Given the description of an element on the screen output the (x, y) to click on. 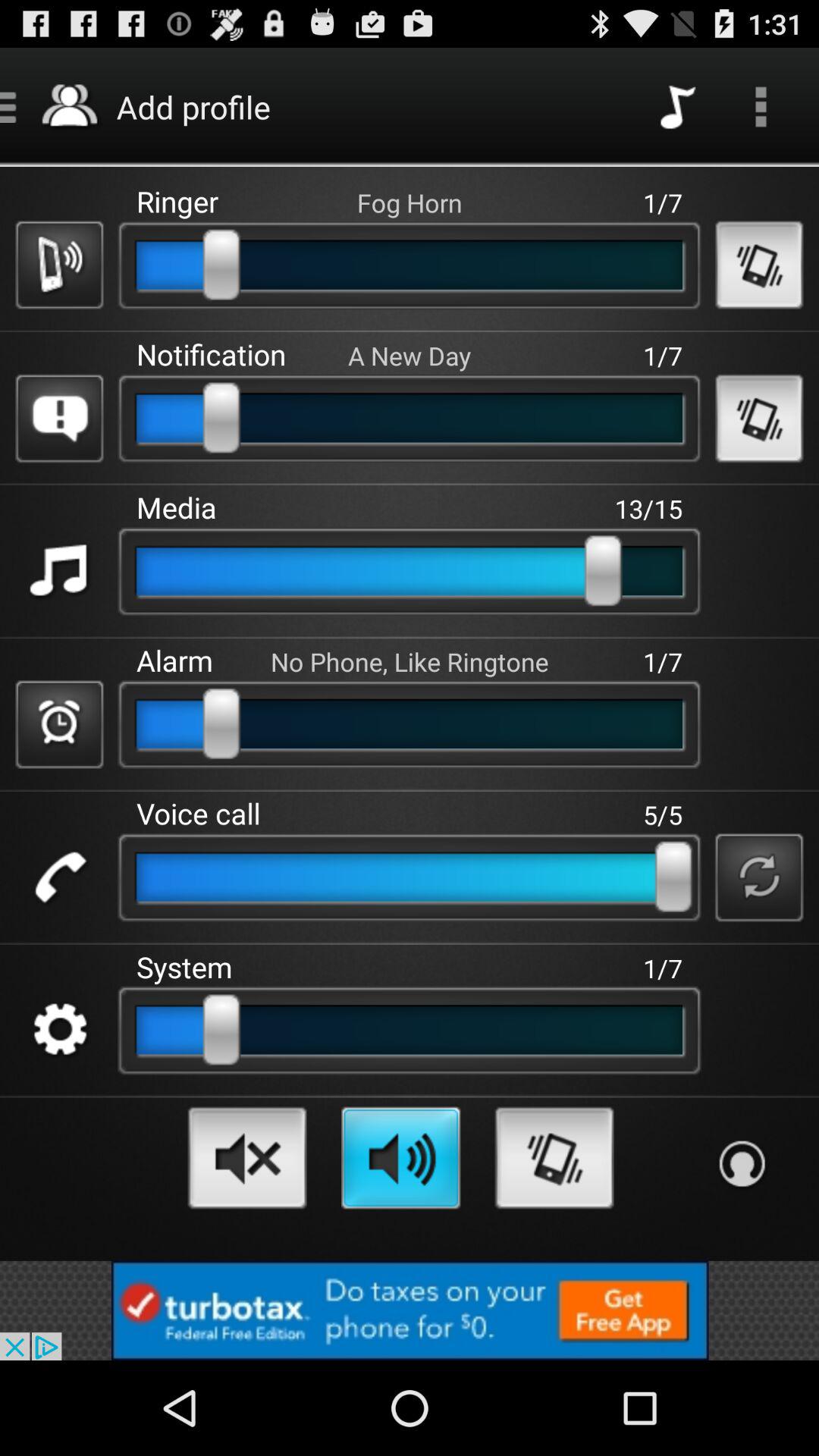
selecting alarm (59, 724)
